Given the description of an element on the screen output the (x, y) to click on. 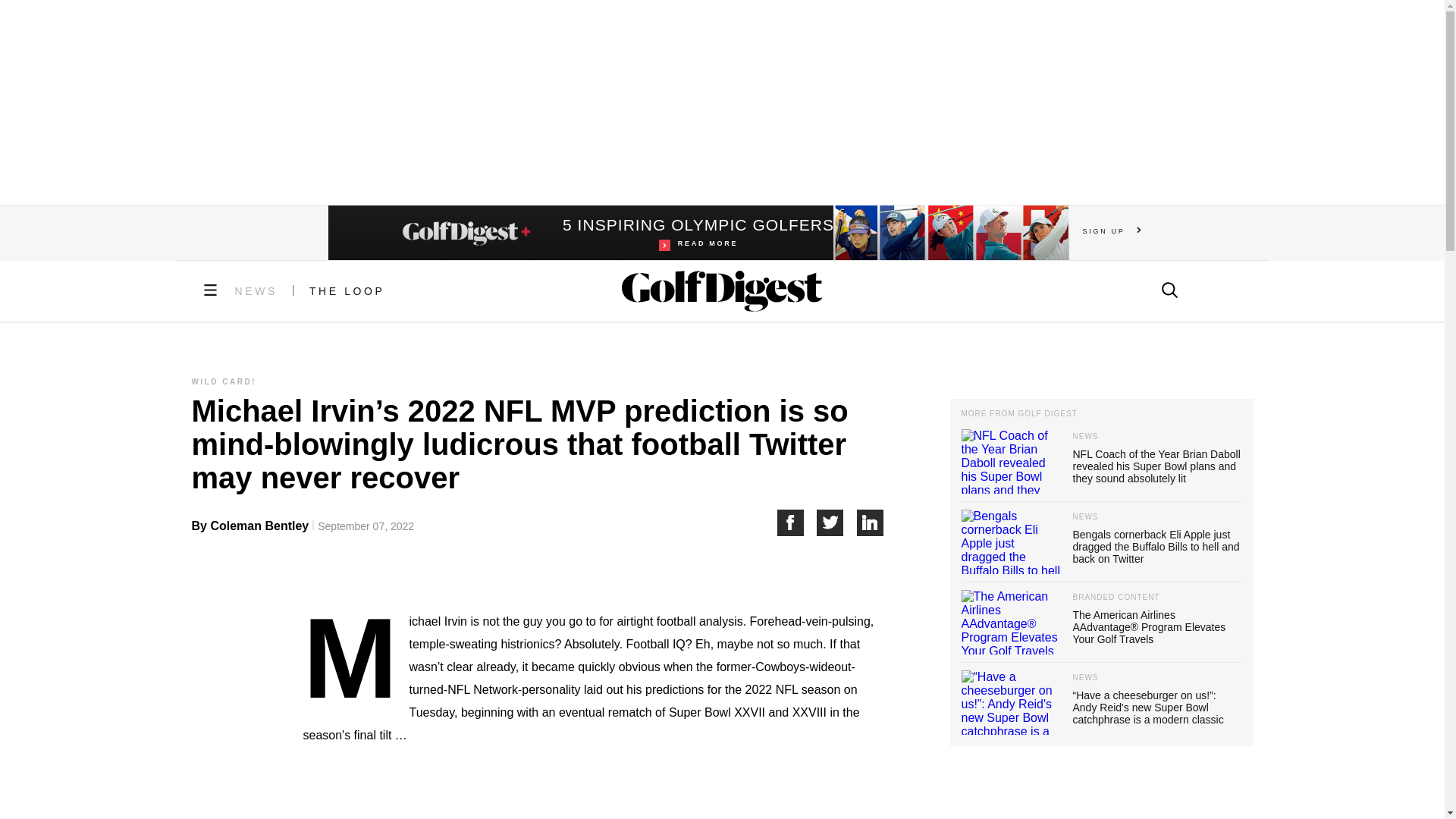
Share on Facebook (796, 522)
Share on Twitter (836, 522)
Share on LinkedIn (697, 232)
THE LOOP (870, 522)
NEWS (346, 291)
SIGN UP (256, 291)
